Given the description of an element on the screen output the (x, y) to click on. 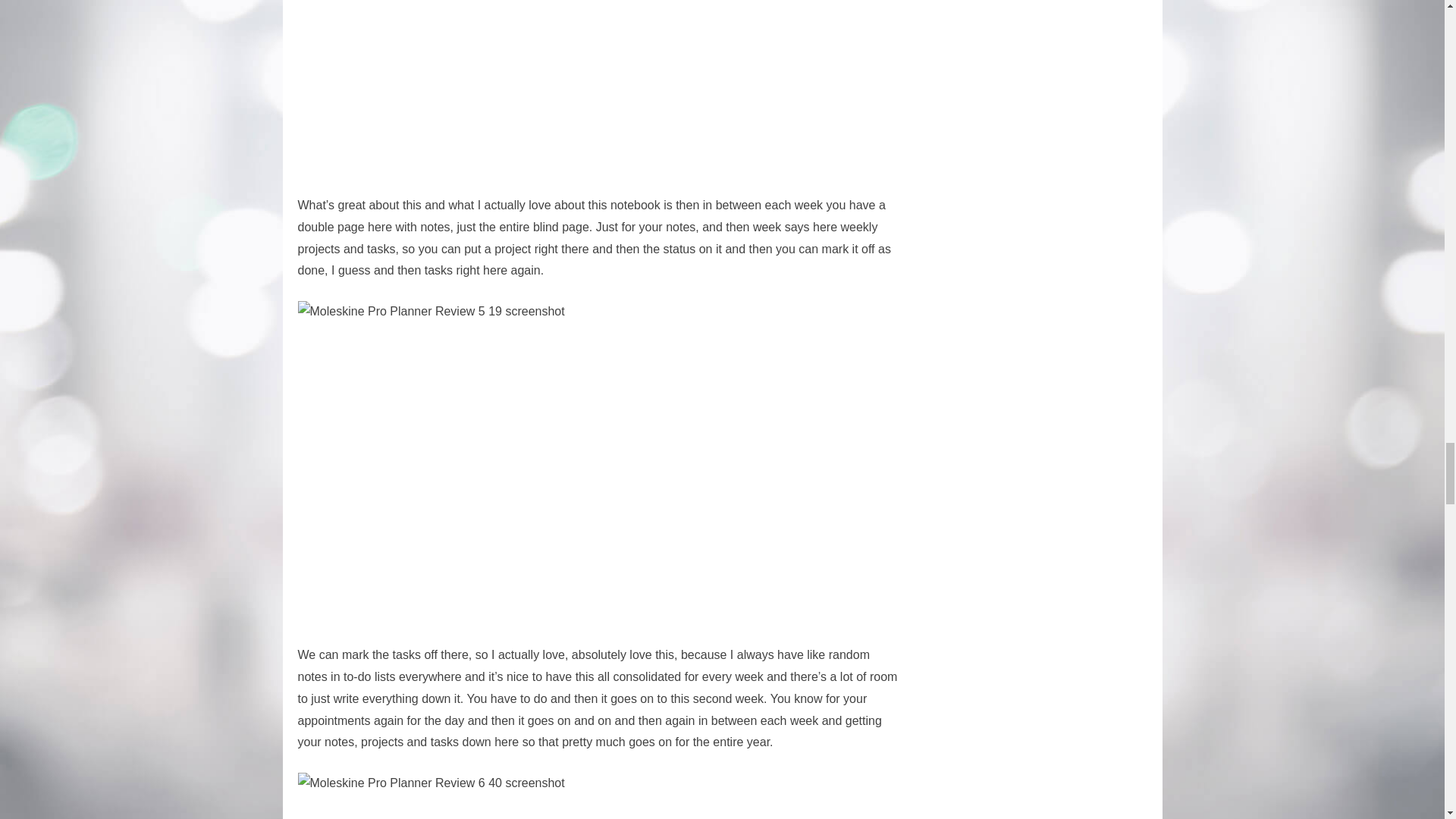
Moleskine Pro Planner Review 29 (585, 88)
Moleskine Pro Planner Review 31 (585, 796)
